Given the description of an element on the screen output the (x, y) to click on. 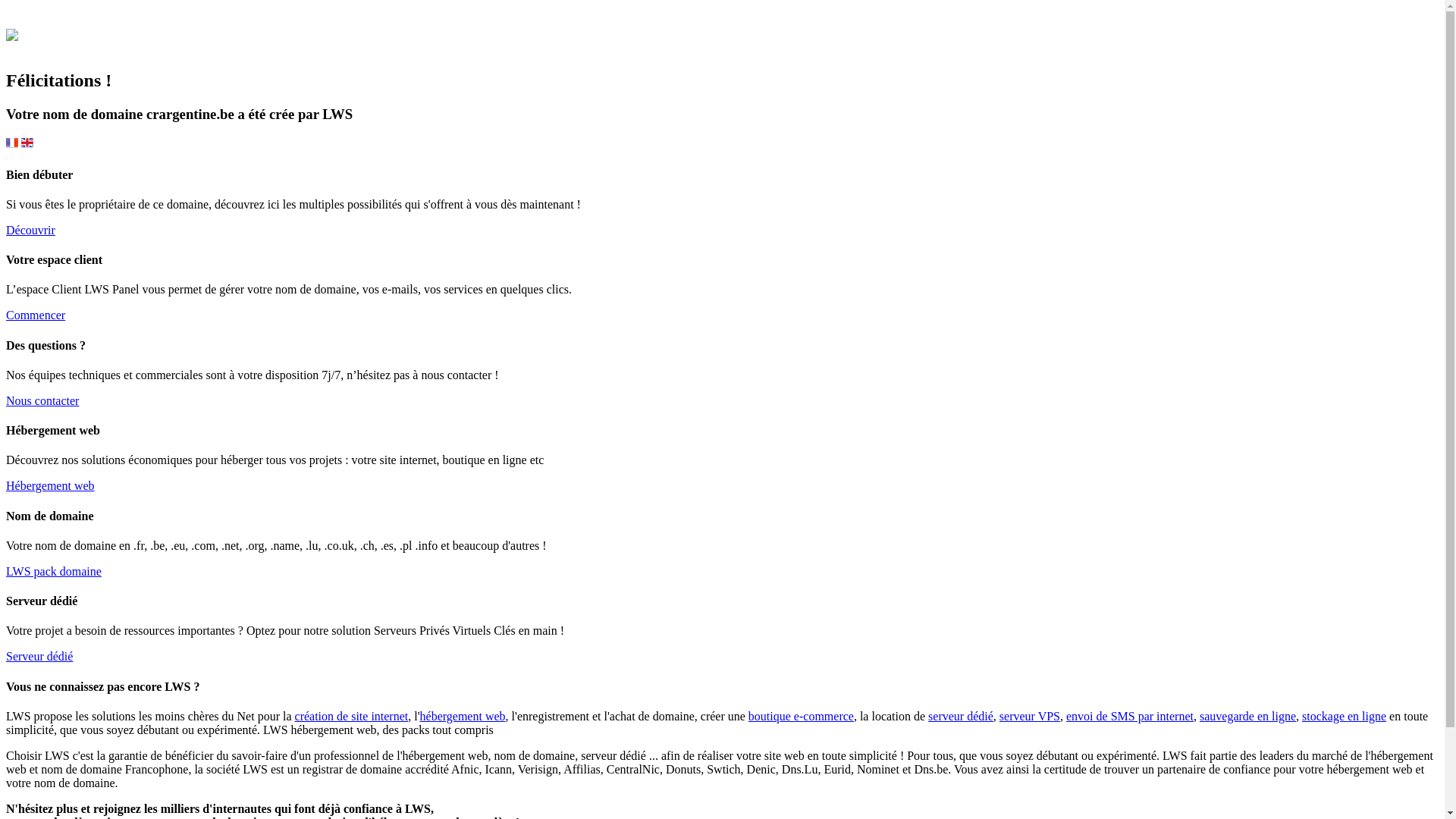
sauvegarde en ligne Element type: text (1247, 715)
Commencer Element type: text (35, 314)
stockage en ligne Element type: text (1344, 715)
LWS pack domaine Element type: text (53, 570)
Nous contacter Element type: text (42, 400)
boutique e-commerce Element type: text (800, 715)
serveur VPS Element type: text (1029, 715)
envoi de SMS par internet Element type: text (1129, 715)
